Given the description of an element on the screen output the (x, y) to click on. 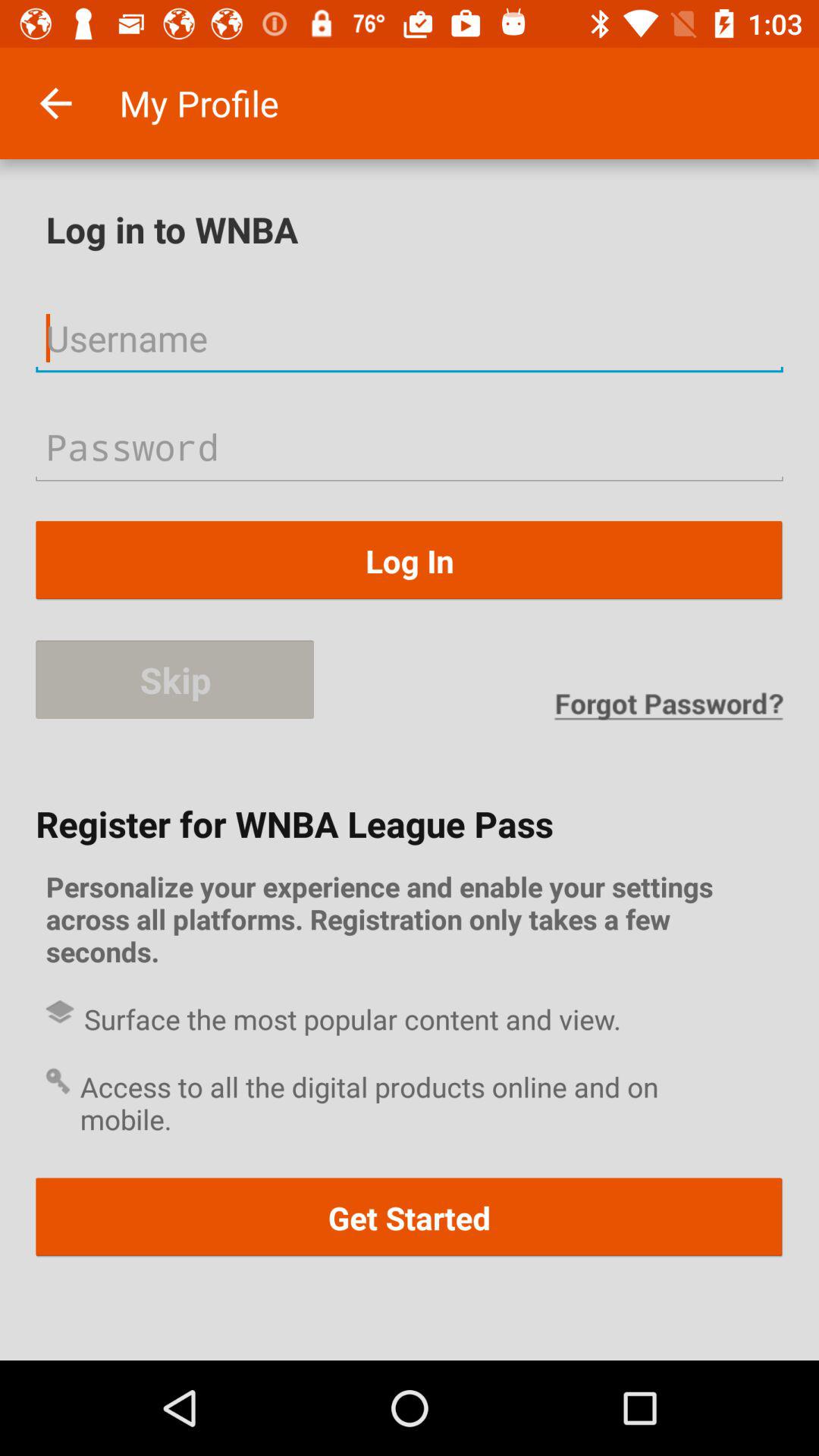
turn on the icon above register for wnba (668, 706)
